Given the description of an element on the screen output the (x, y) to click on. 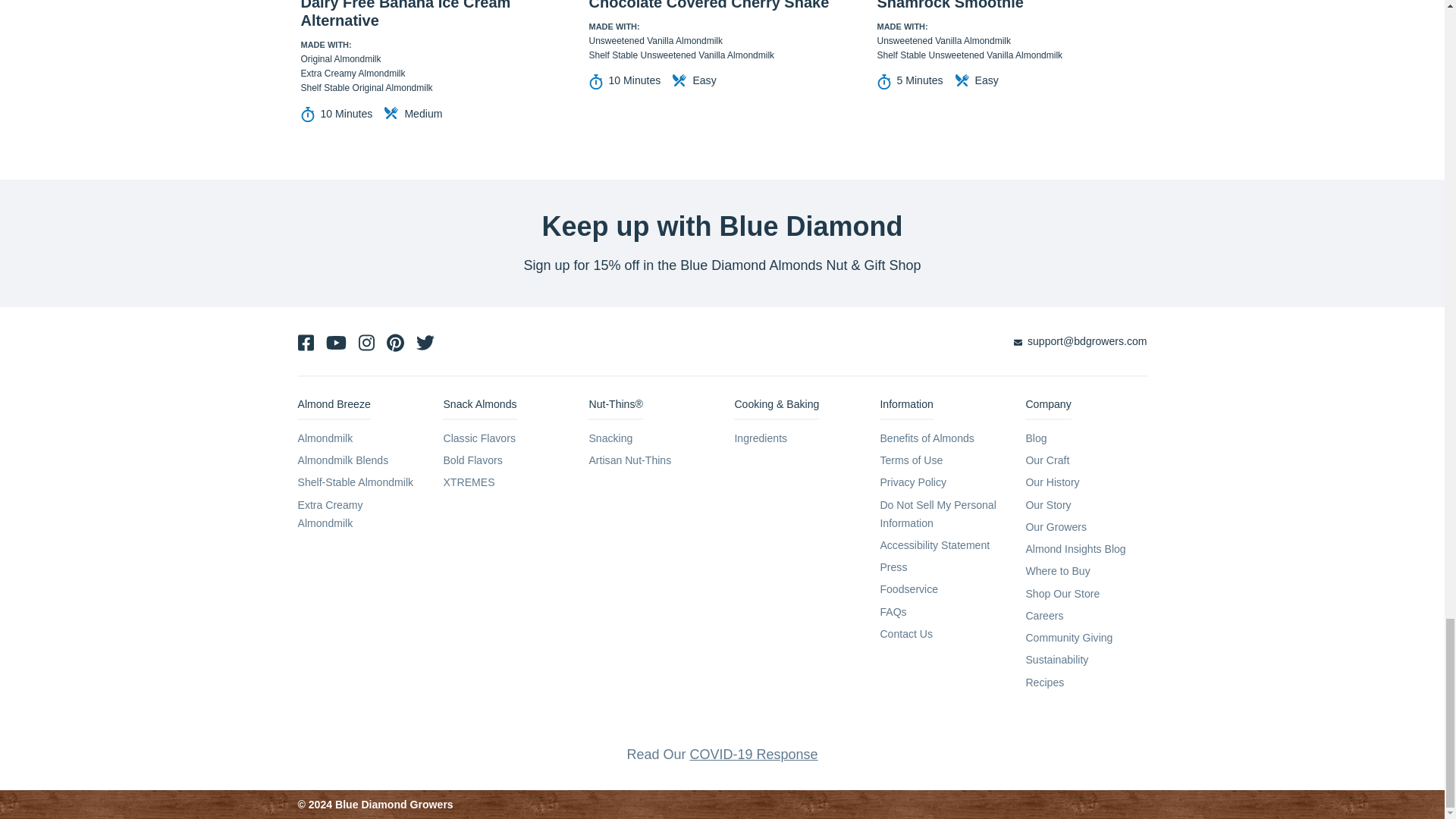
Almondmilk (324, 438)
Snacking (609, 438)
Almondmilk Blends (342, 460)
Artisan Nut-Thins (629, 460)
Classic Flavors (478, 438)
Bold Flavors (472, 460)
Almond Breeze (333, 408)
Shelf-Stable Almondmilk (355, 481)
XTREMES (468, 481)
Extra Creamy Almondmilk (329, 513)
